Given the description of an element on the screen output the (x, y) to click on. 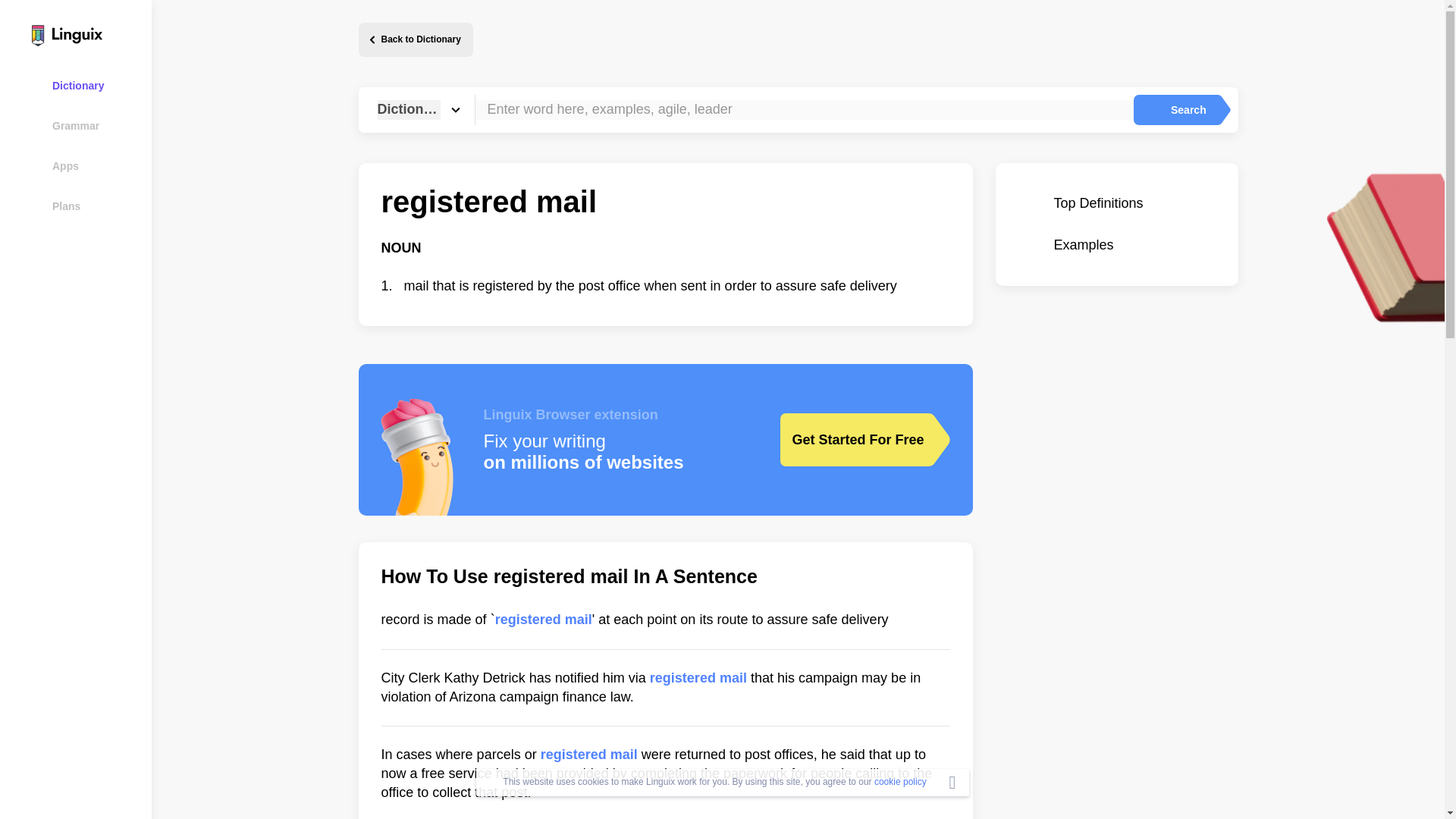
Examples (1115, 244)
Apps (84, 165)
Search (1175, 110)
Top Definitions (1115, 203)
cookie policy (900, 781)
Get Started For Free (852, 439)
Grammar (84, 126)
Back to Dictionary (414, 39)
Dictionary (84, 85)
Plans (84, 206)
